Given the description of an element on the screen output the (x, y) to click on. 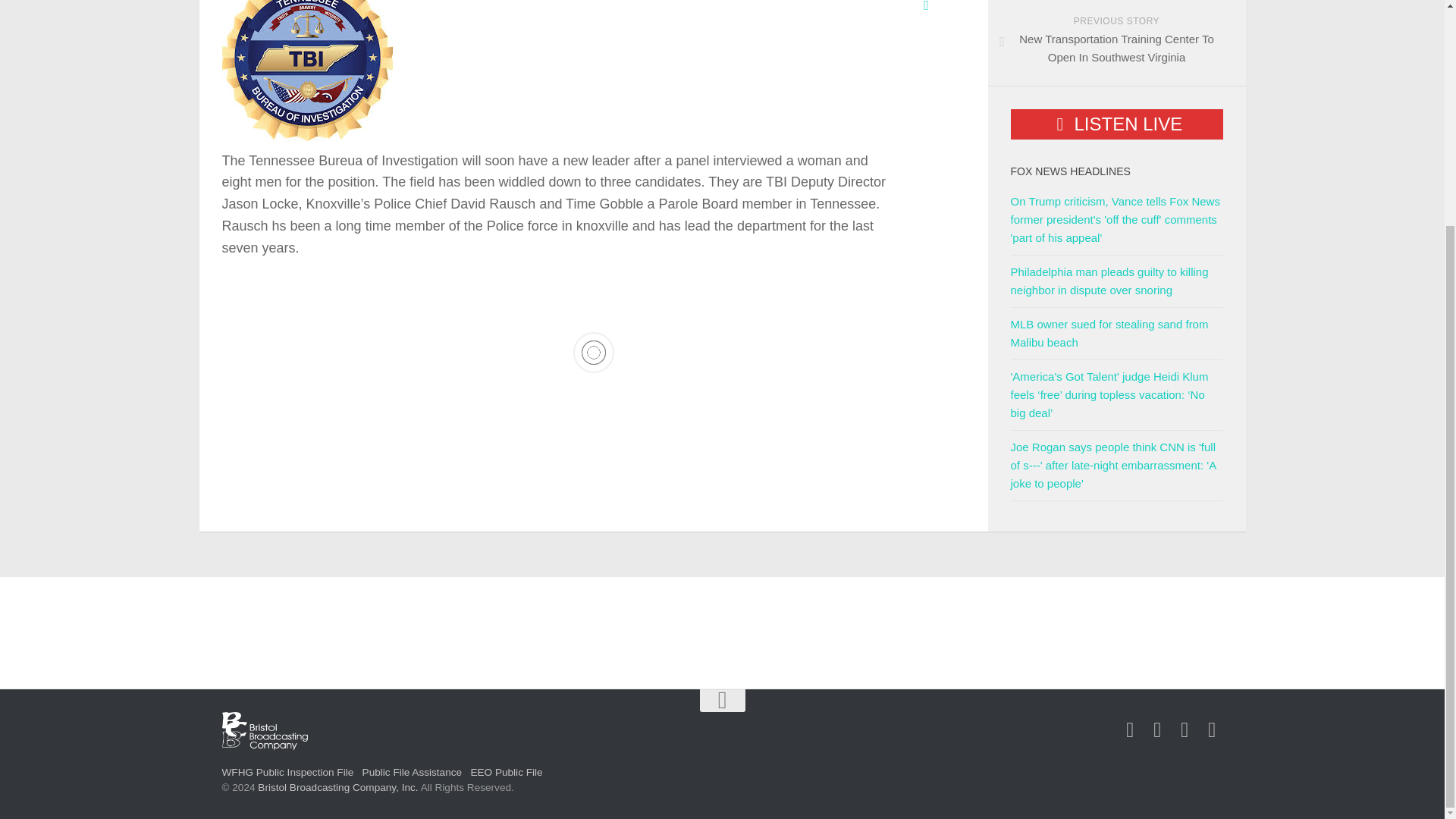
Follow us on Twitter (1157, 730)
Rss Feed (1212, 730)
Follow us on Facebook (1129, 730)
Contact Us (1184, 730)
